Given the description of an element on the screen output the (x, y) to click on. 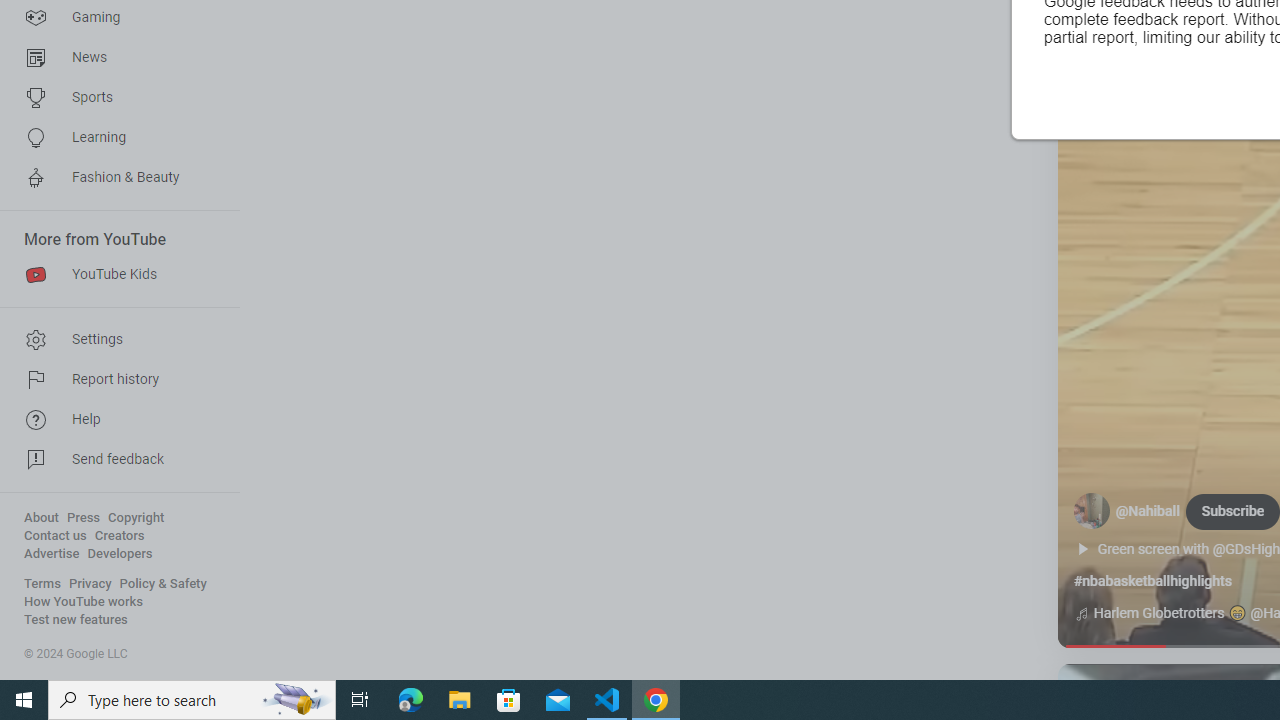
YouTube Kids (113, 274)
Contact us (55, 536)
News (113, 57)
About (41, 518)
Test new features (76, 620)
music icon (1081, 614)
Learning (113, 137)
@Nahiball (1147, 511)
Fashion & Beauty (113, 177)
#nbabasketballhighlights (1151, 581)
Policy & Safety (163, 584)
